Given the description of an element on the screen output the (x, y) to click on. 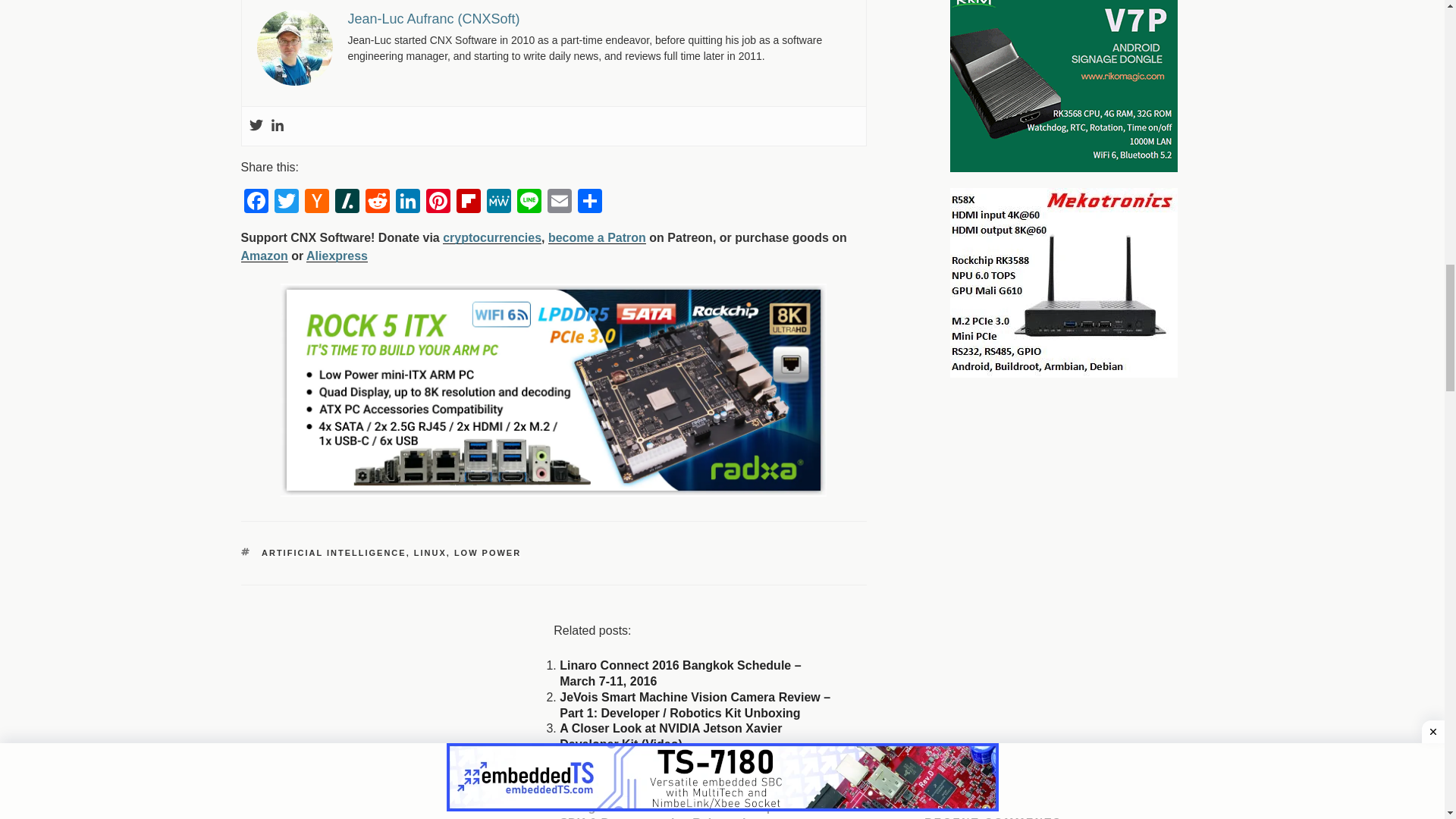
Hacker News (316, 203)
Twitter (285, 203)
MeWe (498, 203)
Flipboard (467, 203)
LinkedIn (408, 203)
Twitter (255, 125)
Slashdot (346, 203)
Pinterest (437, 203)
Reddit (377, 203)
Facebook (255, 203)
Linkedin (276, 125)
Line (528, 203)
Email (559, 203)
